Given the description of an element on the screen output the (x, y) to click on. 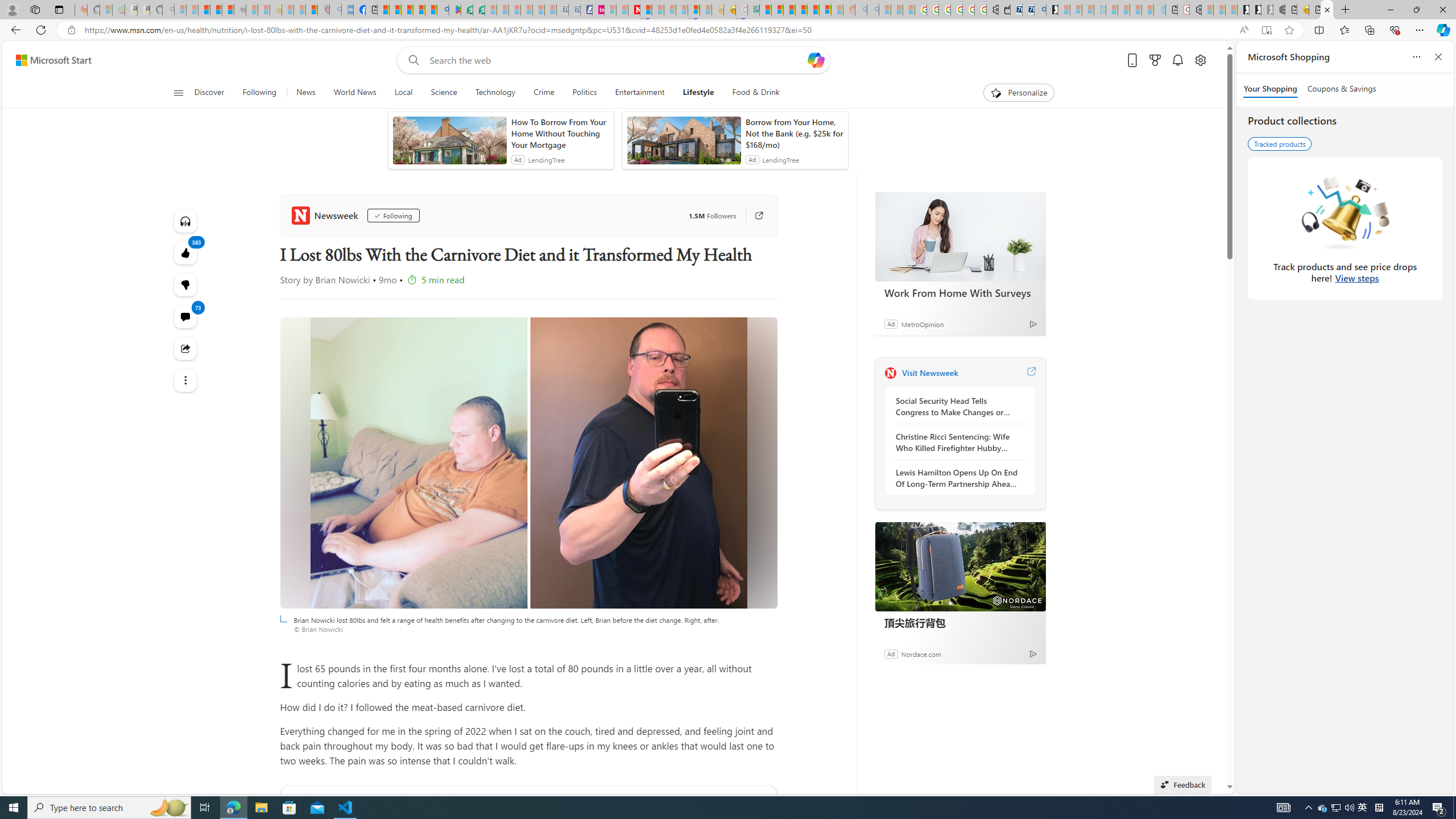
DITOGAMES AG Imprint (753, 9)
See more (184, 380)
Skip to content (49, 59)
Skip to footer (46, 59)
list of asthma inhalers uk - Search - Sleeping (335, 9)
google - Search (443, 9)
383 Like (184, 252)
Discover (208, 92)
App bar (728, 29)
Entertainment (639, 92)
Science (442, 92)
